Given the description of an element on the screen output the (x, y) to click on. 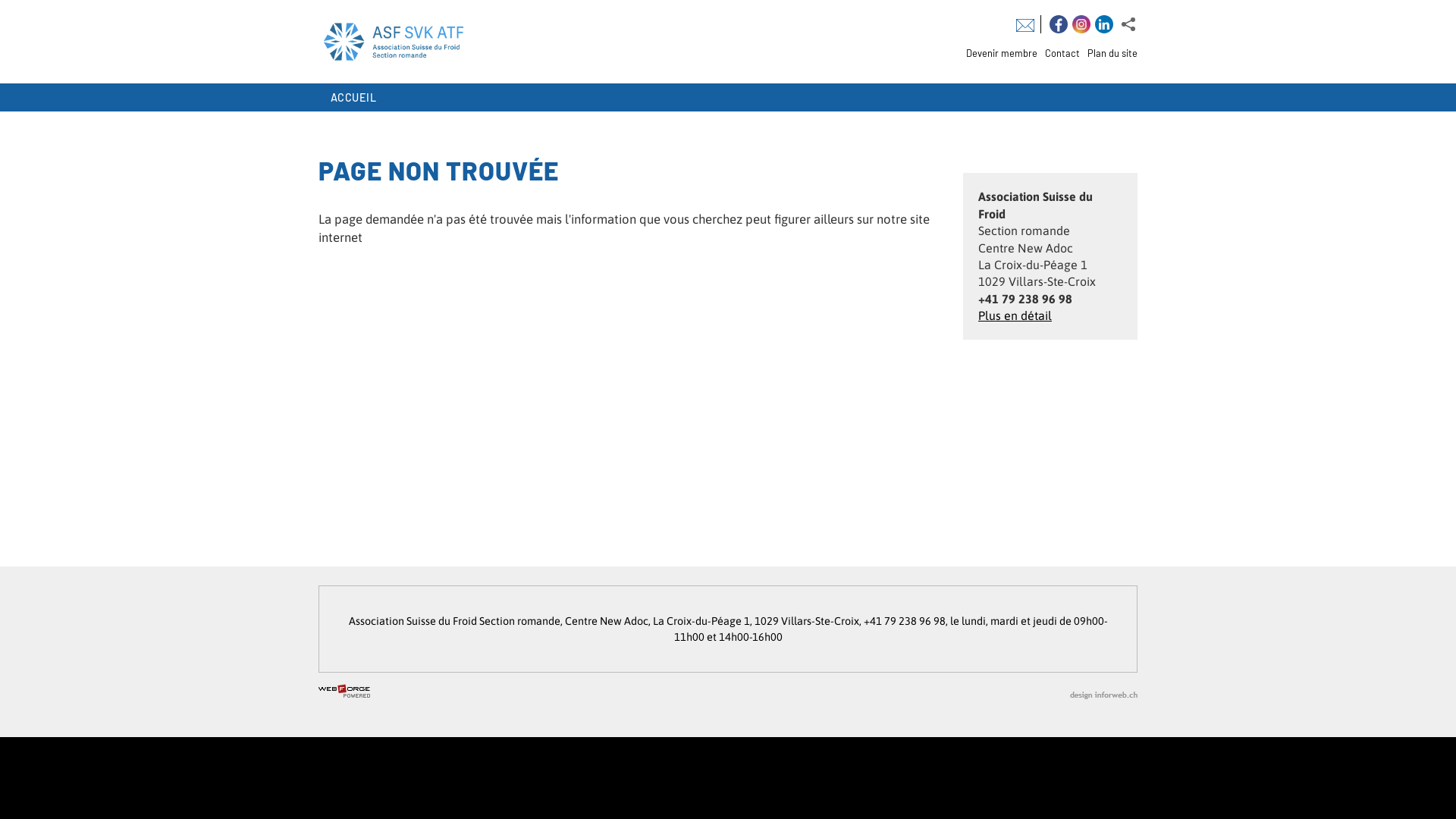
Contact Element type: text (1058, 52)
ACCUEIL Element type: text (353, 97)
Devenir membre Element type: text (997, 52)
Plan du site Element type: text (1108, 52)
Modifier son site internet avec WebForge Element type: hover (344, 691)
